Given the description of an element on the screen output the (x, y) to click on. 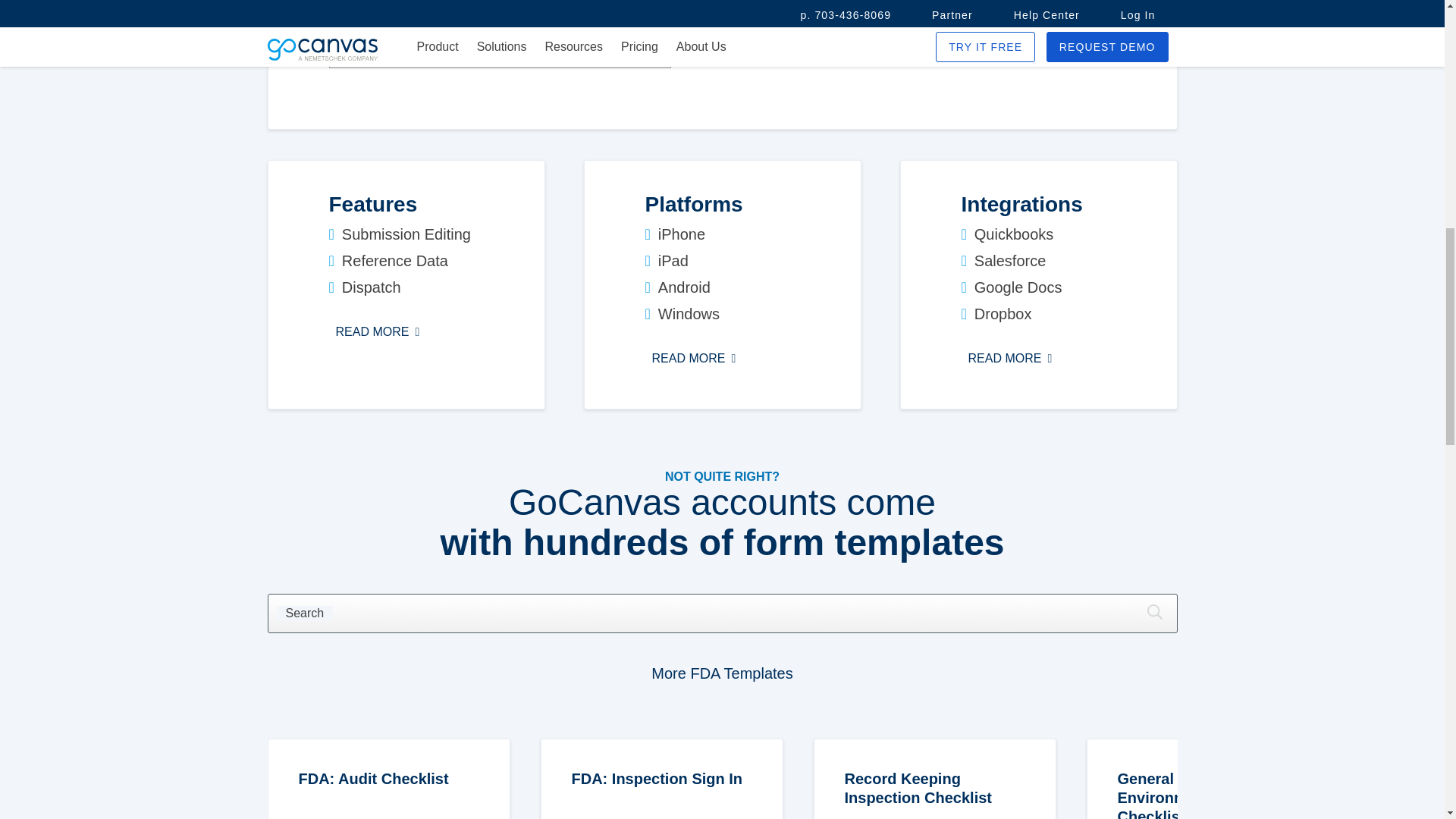
READ MORE (693, 358)
READ MORE (1009, 358)
More FDA Templates (721, 673)
READ MORE (662, 794)
